Given the description of an element on the screen output the (x, y) to click on. 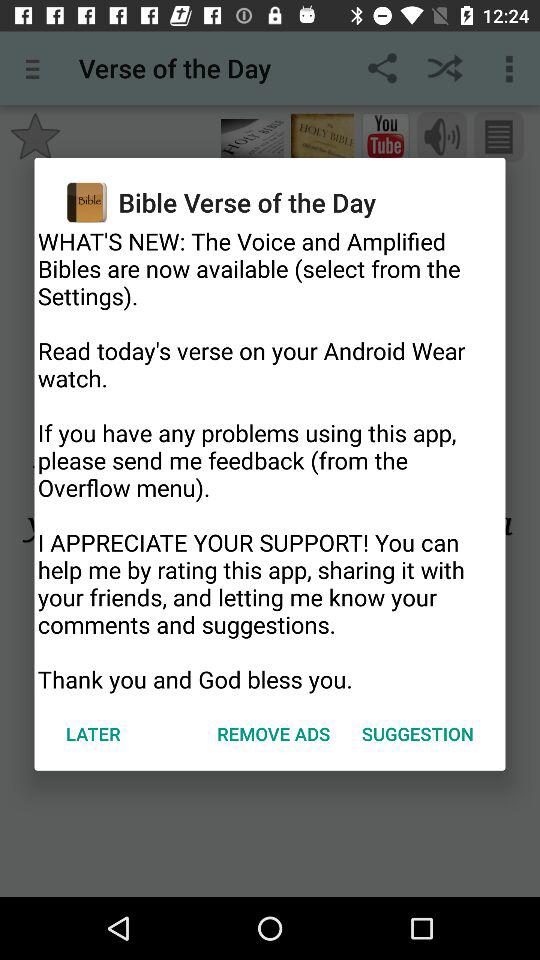
turn on the app below what s new item (417, 733)
